Given the description of an element on the screen output the (x, y) to click on. 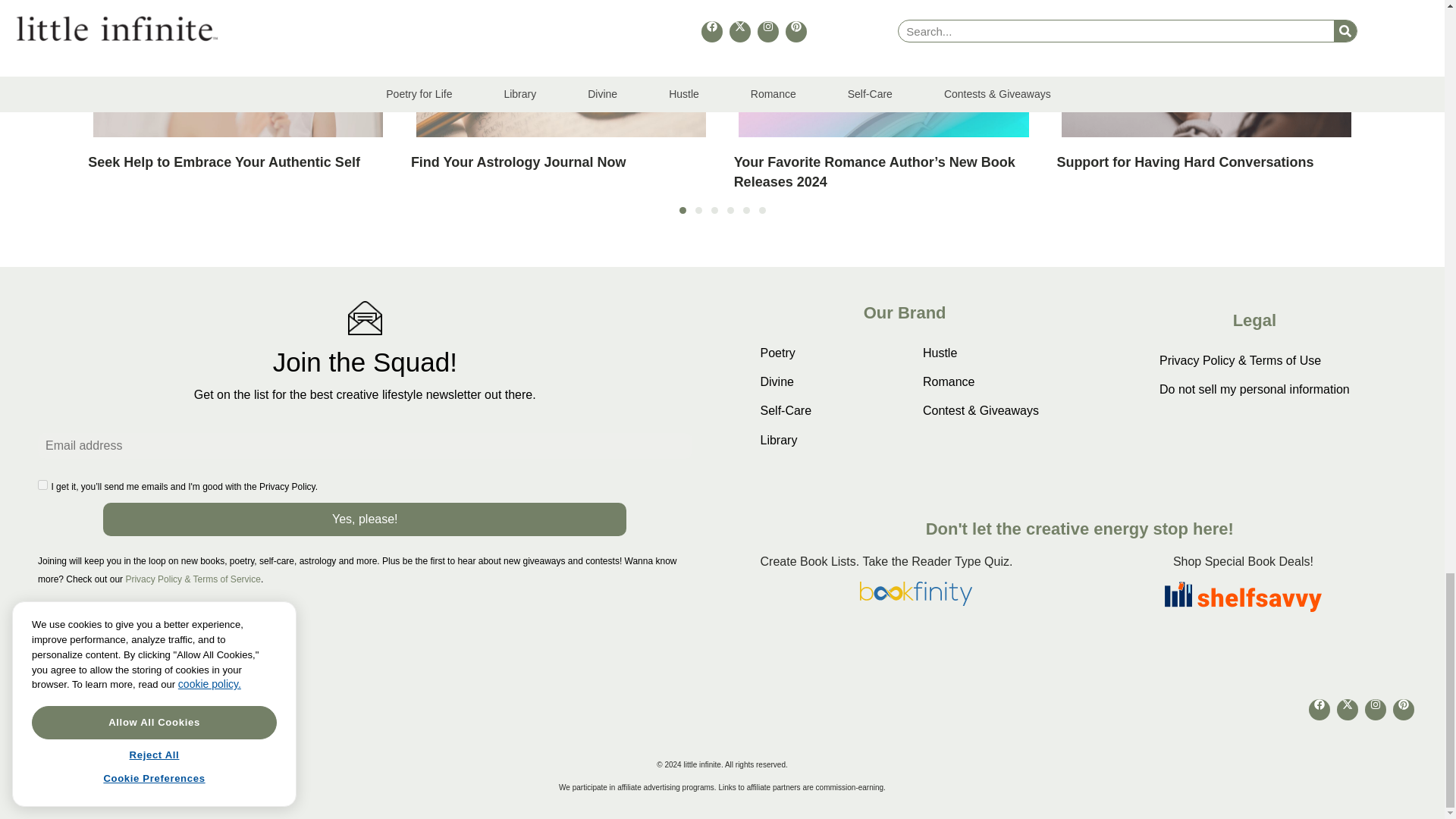
Y (42, 484)
Yes, please! (364, 519)
